Given the description of an element on the screen output the (x, y) to click on. 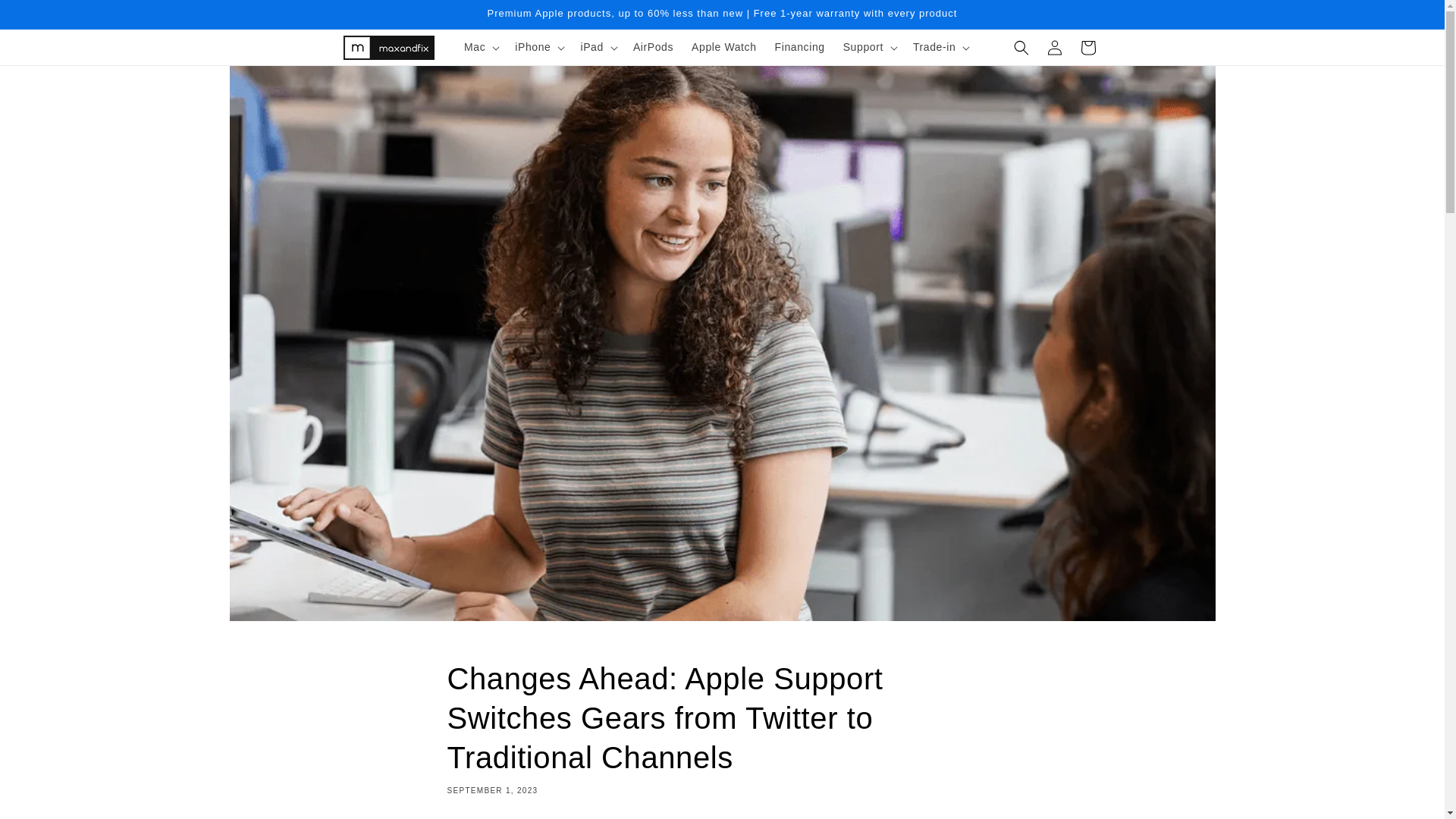
Skip to content (45, 17)
